Given the description of an element on the screen output the (x, y) to click on. 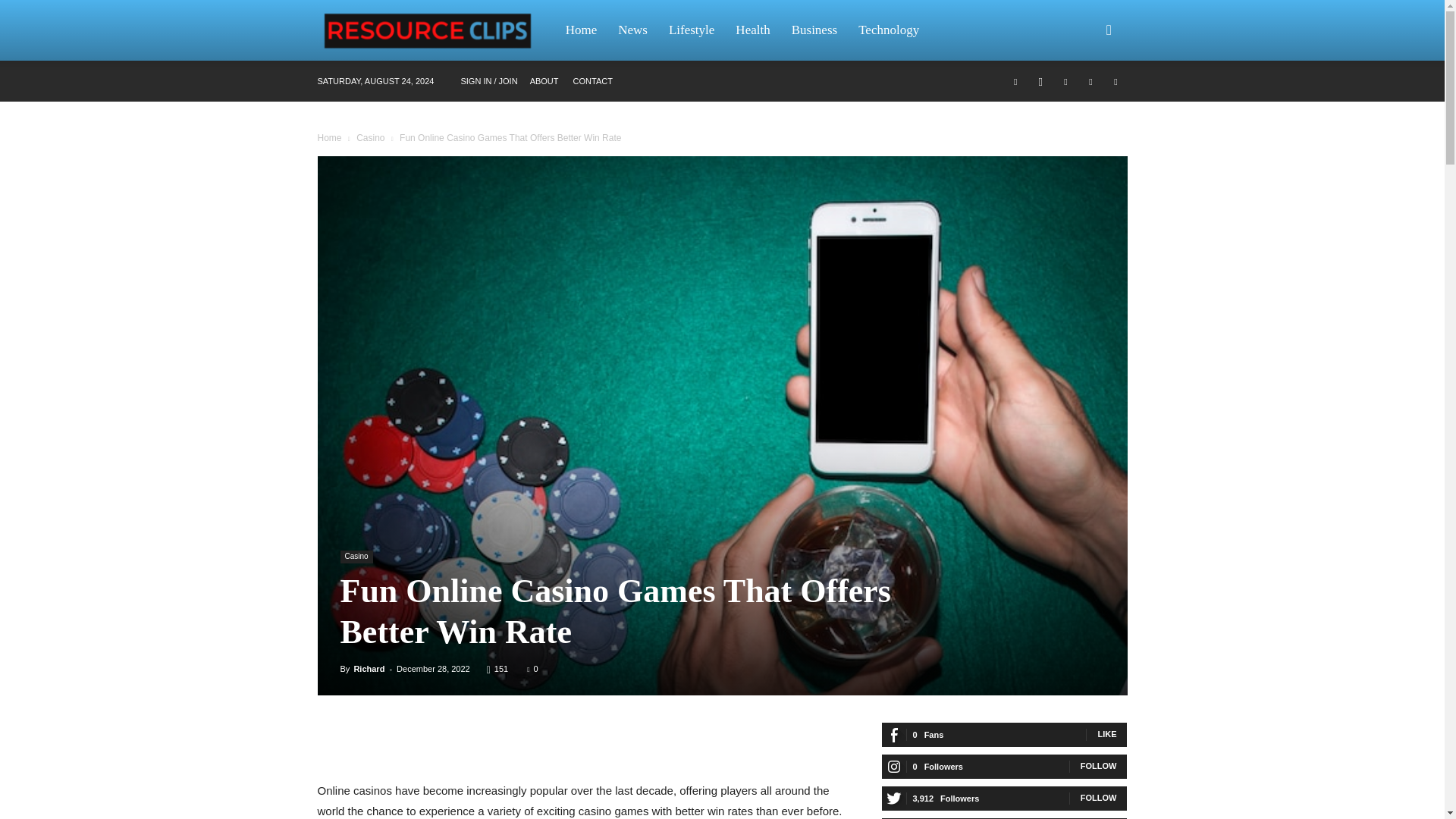
Technology (888, 30)
Search (1085, 102)
Business (813, 30)
View all posts in Casino (370, 137)
Resource Clips (435, 30)
CONTACT (592, 80)
ABOUT (544, 80)
Lifestyle (691, 30)
Health (752, 30)
